Given the description of an element on the screen output the (x, y) to click on. 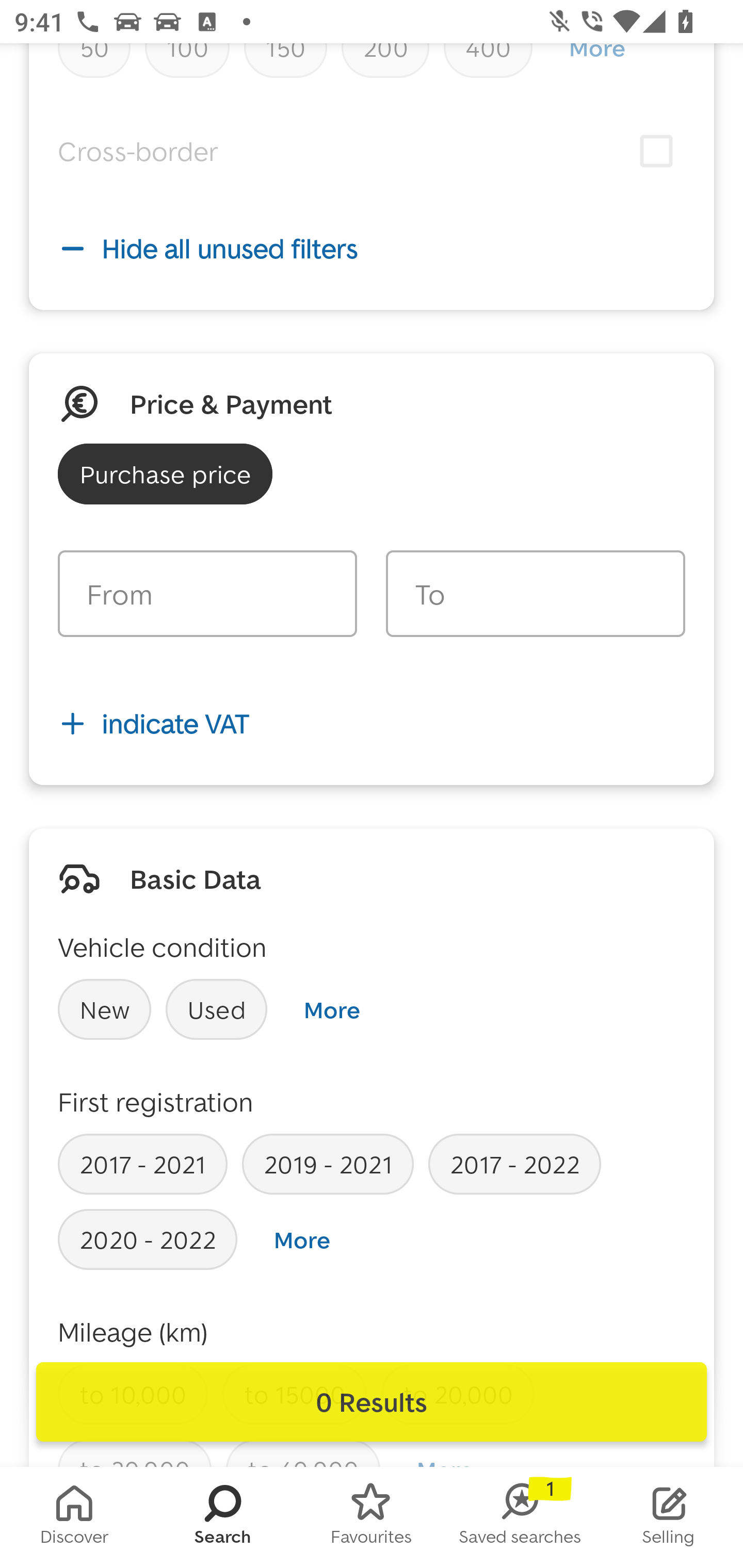
Hide all unused filters (371, 248)
Price & Payment (231, 403)
Purchase price (164, 473)
From (207, 593)
To (535, 593)
indicate VAT (371, 723)
Basic Data (195, 878)
Vehicle condition (161, 946)
New (103, 1008)
Used (216, 1008)
More (331, 1009)
First registration (155, 1101)
2017 - 2021 (142, 1163)
2019 - 2021 (327, 1163)
2017 - 2022 (514, 1163)
2020 - 2022 (147, 1239)
More (301, 1239)
Mileage (km) (132, 1331)
0 Results (371, 1401)
HOMESCREEN Discover (74, 1517)
SEARCH Search (222, 1517)
FAVORITES Favourites (371, 1517)
SAVED_SEARCHES Saved searches 1 (519, 1517)
STOCK_LIST Selling (668, 1517)
